Given the description of an element on the screen output the (x, y) to click on. 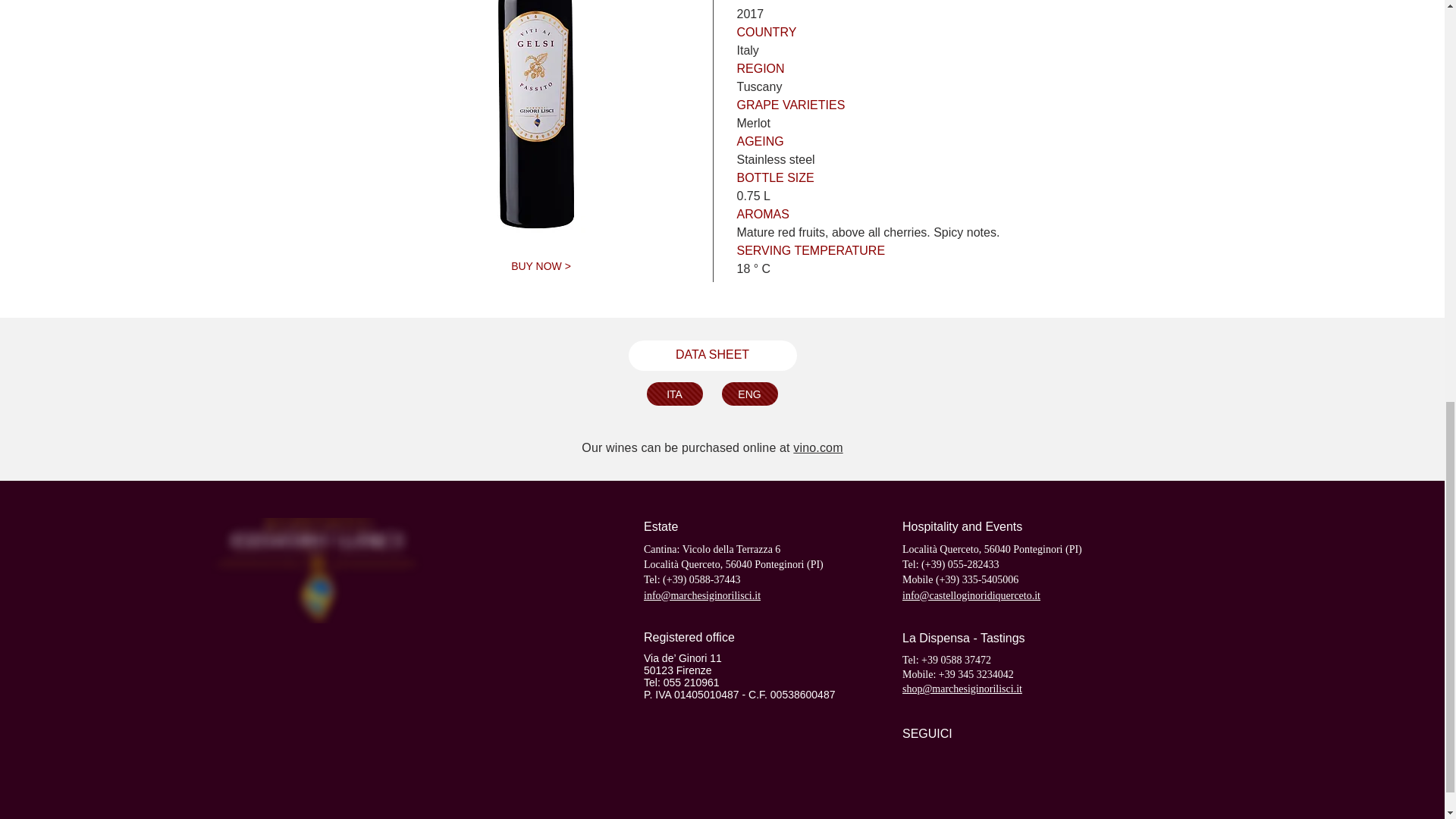
ITA (673, 393)
ENG (749, 393)
